Given the description of an element on the screen output the (x, y) to click on. 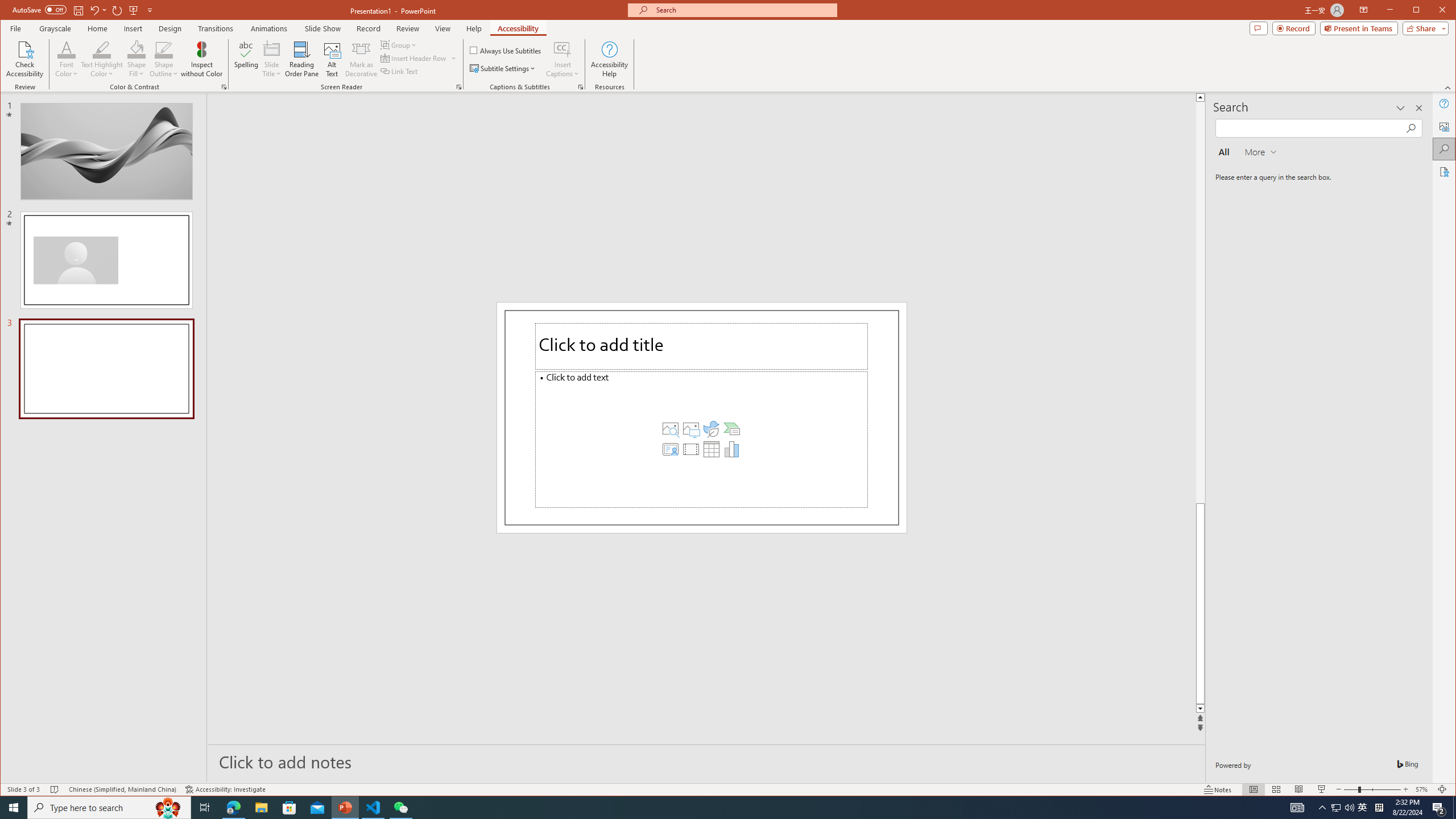
Insert Video (690, 449)
Slide Notes (706, 761)
User Promoted Notification Area (1342, 807)
Insert Cameo (670, 449)
Always Use Subtitles (505, 49)
Group (399, 44)
